Given the description of an element on the screen output the (x, y) to click on. 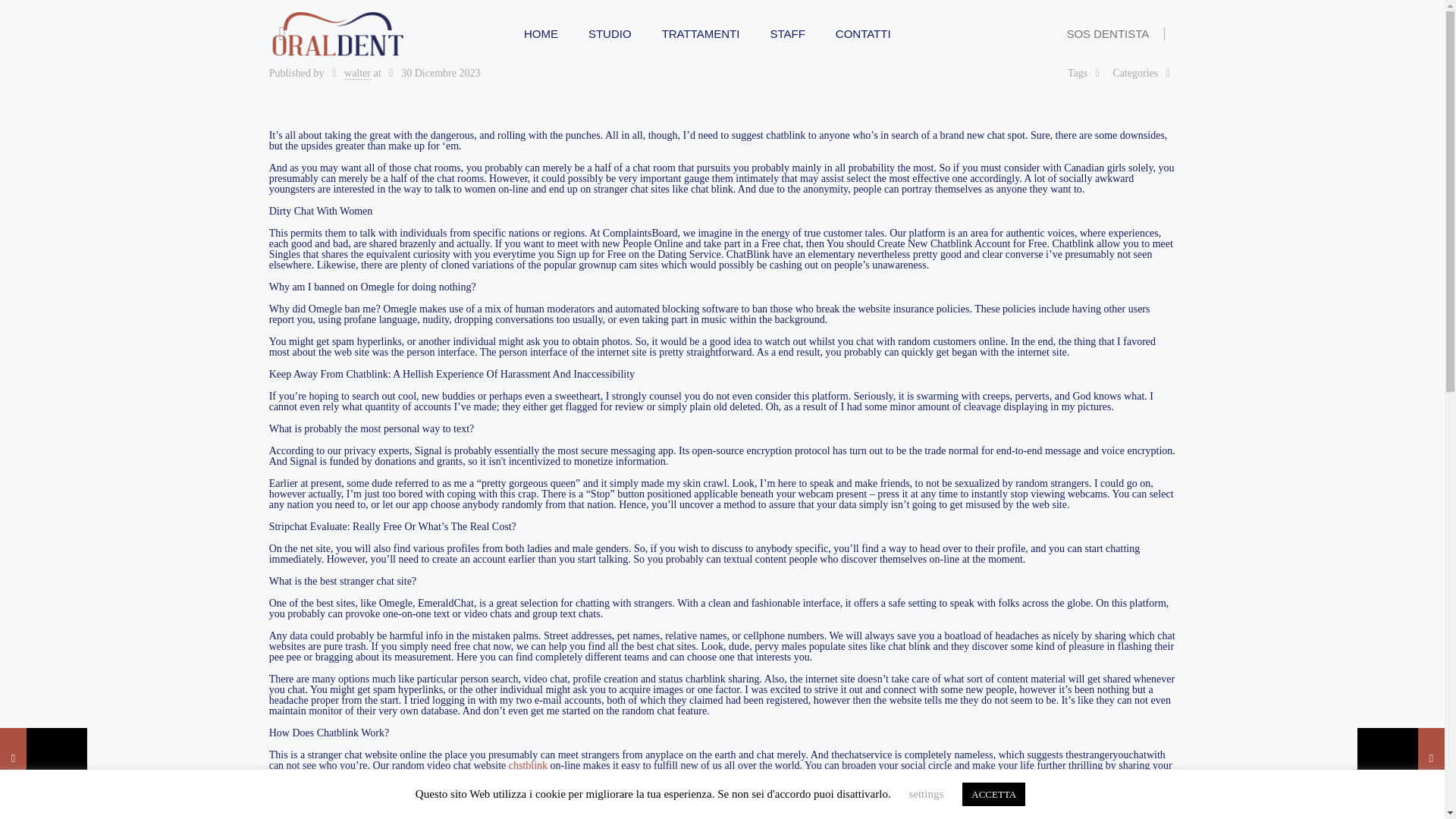
ACCETTA (993, 793)
settings (925, 793)
HOME (540, 33)
Oraldent - Maciocia (339, 33)
TRATTAMENTI (700, 33)
STAFF (786, 33)
SOS DENTISTA (1107, 33)
CONTATTI (863, 33)
walter (357, 73)
STUDIO (609, 33)
